Given the description of an element on the screen output the (x, y) to click on. 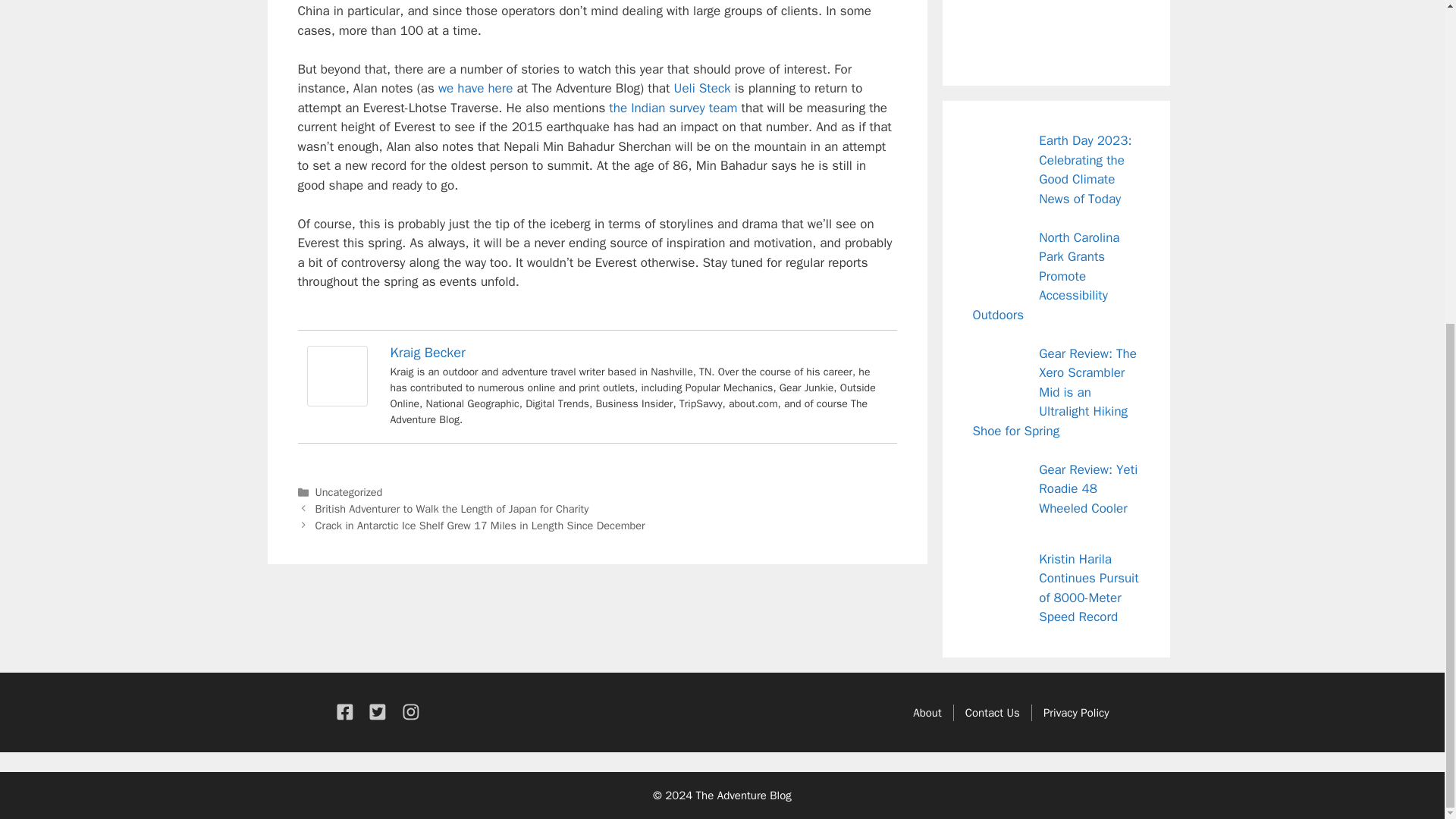
the Indian survey team (672, 107)
Instagram (1058, 31)
Facebook (990, 31)
Ueli Steck (702, 88)
we have here (475, 88)
Kraig Becker (427, 352)
Twitter (1025, 31)
British Adventurer to Walk the Length of Japan for Charity (452, 508)
Uncategorized (348, 491)
